Given the description of an element on the screen output the (x, y) to click on. 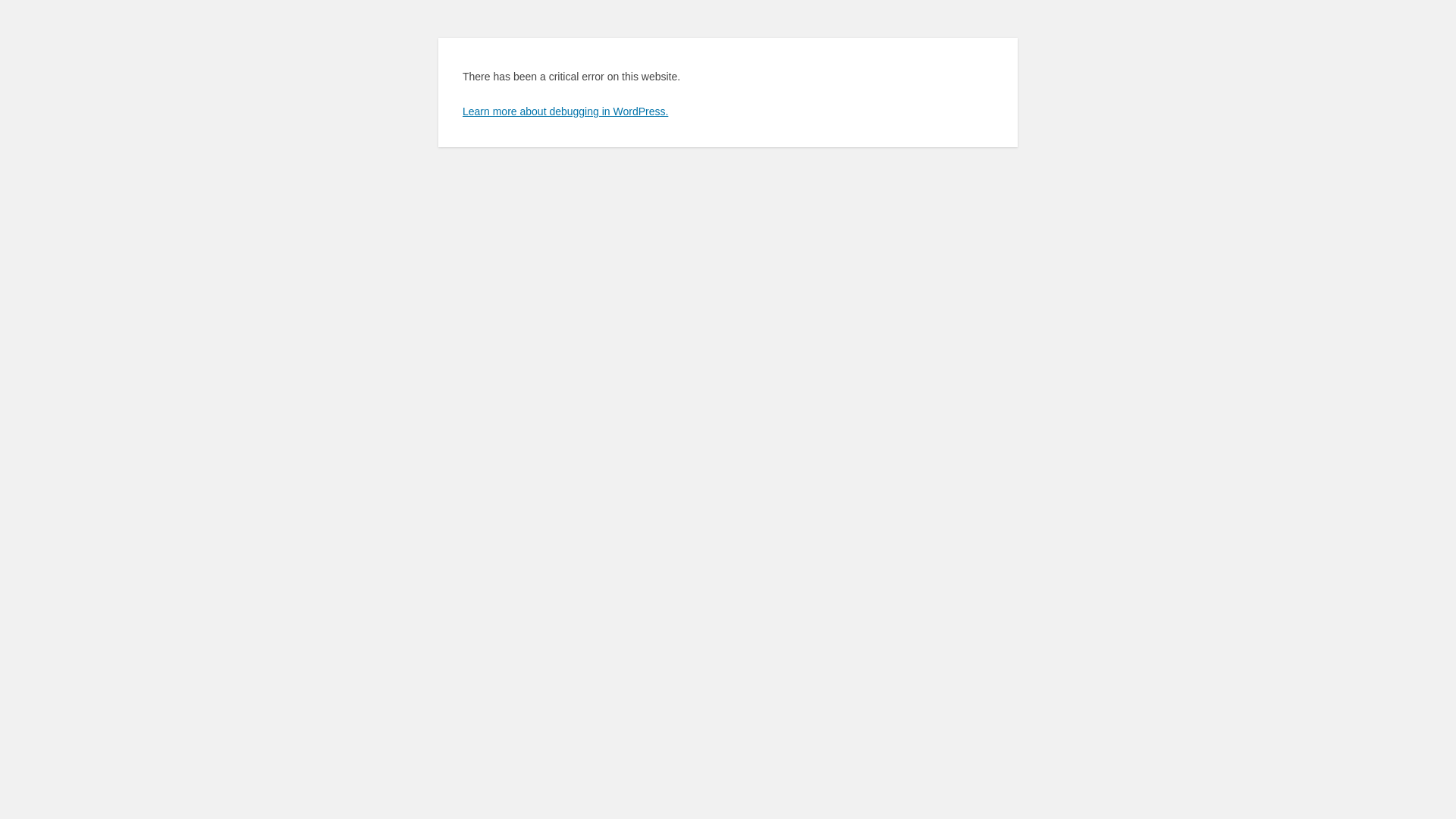
Learn more about debugging in WordPress. Element type: text (565, 111)
